Given the description of an element on the screen output the (x, y) to click on. 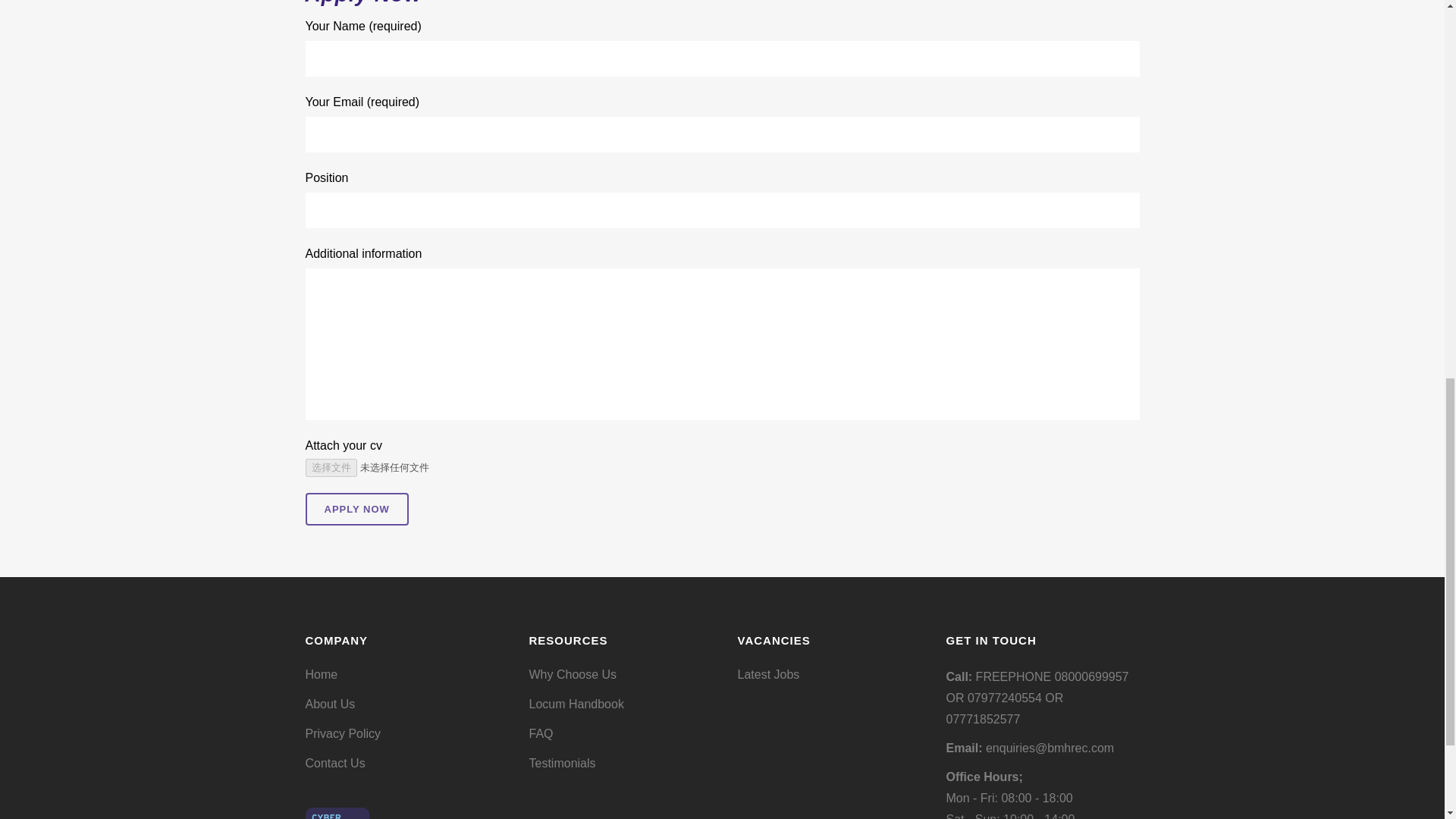
Contact Us (403, 763)
Apply Now (355, 509)
Testimonials (621, 763)
Locum Handbook (621, 704)
About Us (403, 704)
Home (403, 674)
Why Choose Us (621, 674)
FAQ (621, 733)
Privacy Policy (403, 733)
Latest Jobs (831, 674)
Apply Now (355, 509)
